Given the description of an element on the screen output the (x, y) to click on. 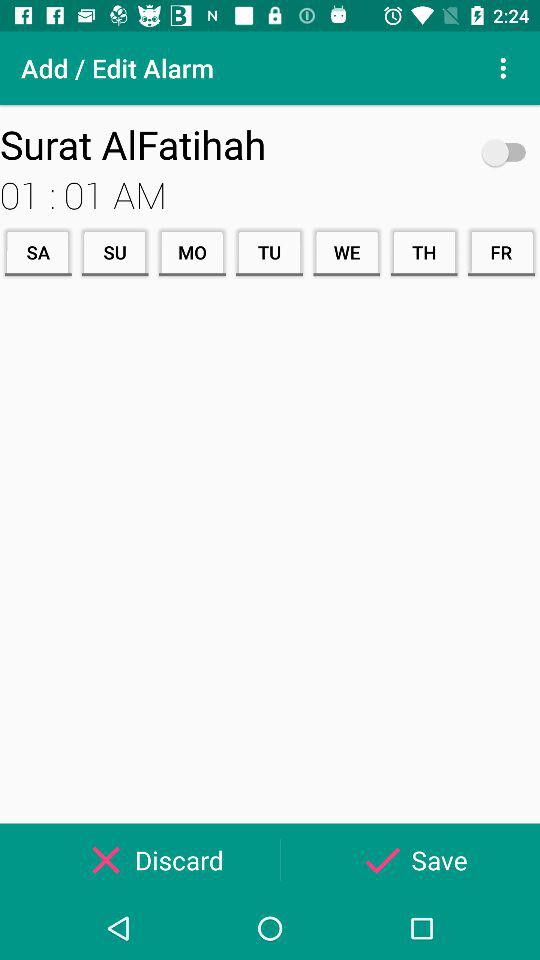
turn off the icon below 01 : 01 am item (501, 251)
